Given the description of an element on the screen output the (x, y) to click on. 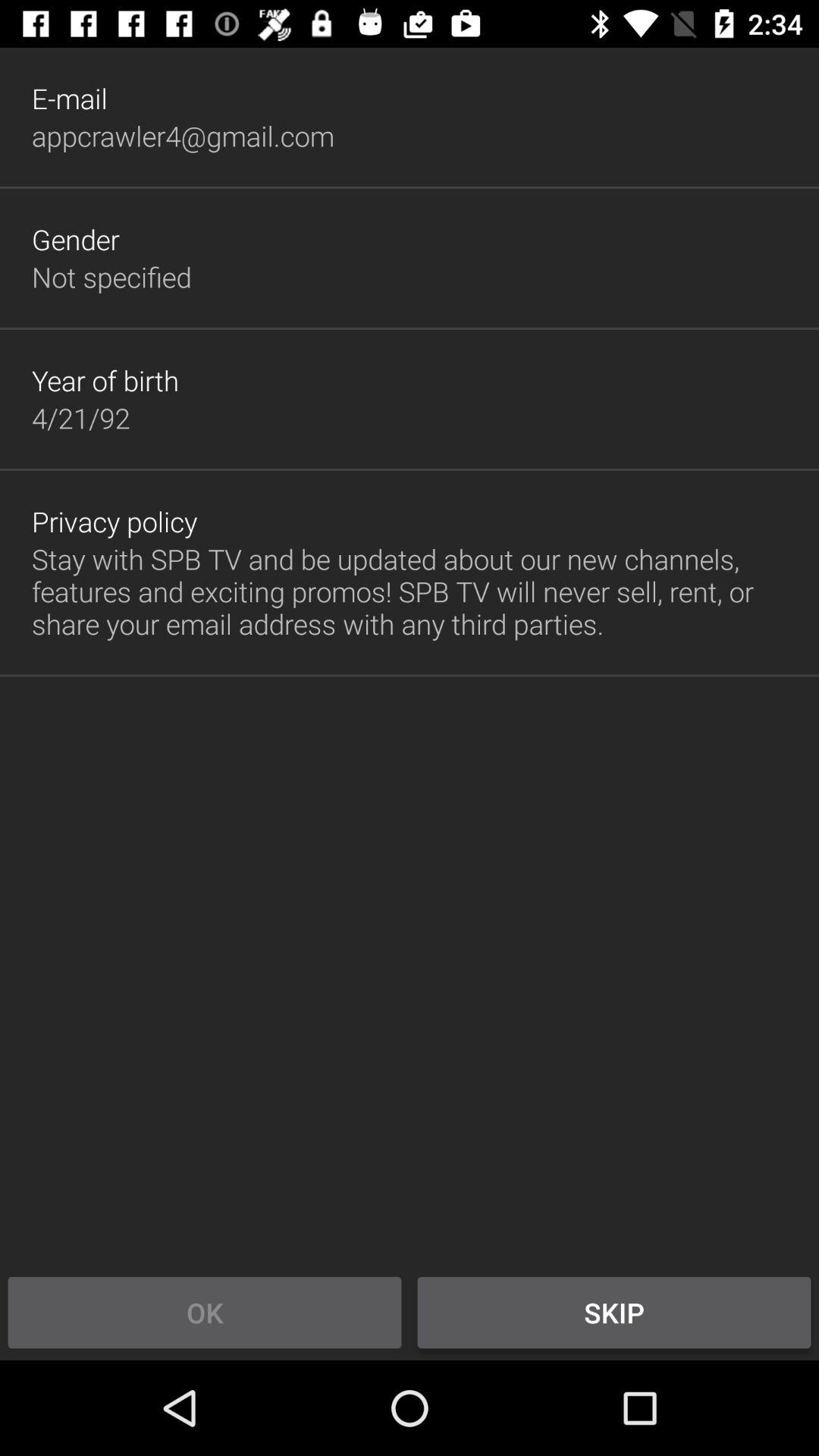
jump until gender (75, 239)
